Given the description of an element on the screen output the (x, y) to click on. 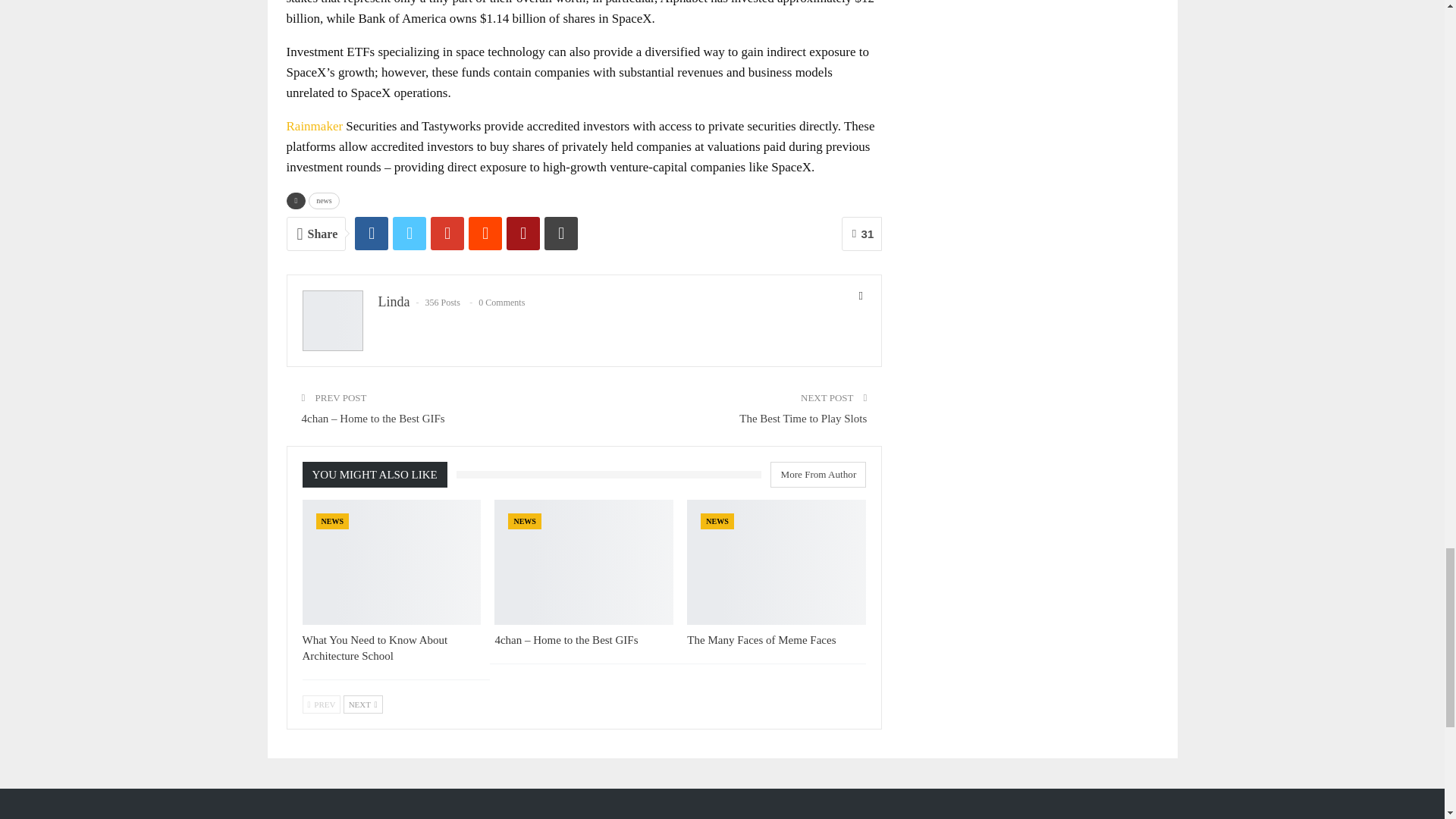
What You Need to Know About Architecture School (390, 561)
The Many Faces of Meme Faces (776, 561)
What You Need to Know About Architecture School (373, 647)
